Given the description of an element on the screen output the (x, y) to click on. 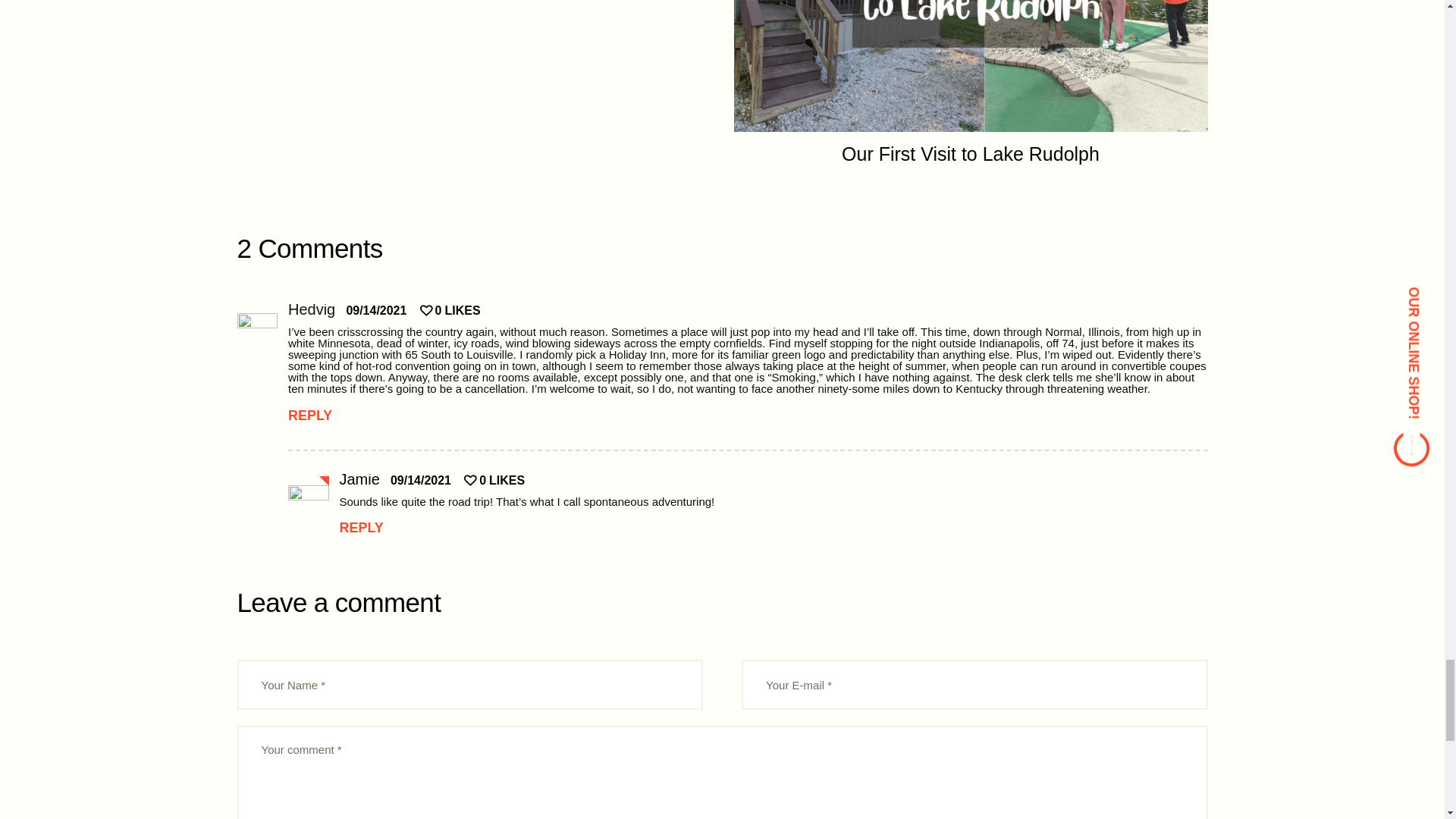
Like (494, 480)
Like (450, 309)
